Given the description of an element on the screen output the (x, y) to click on. 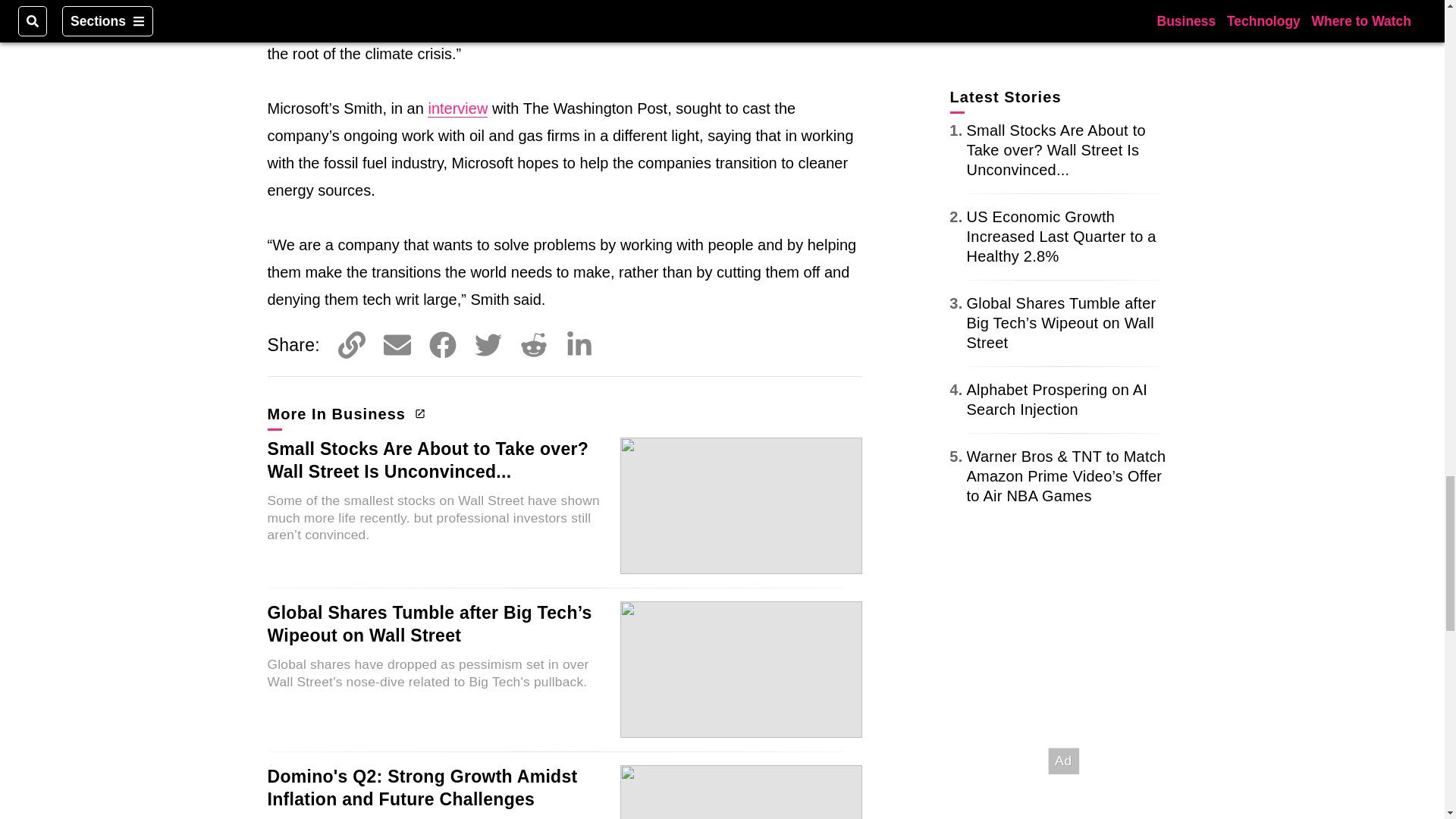
interview (457, 108)
More In Business (344, 414)
